Given the description of an element on the screen output the (x, y) to click on. 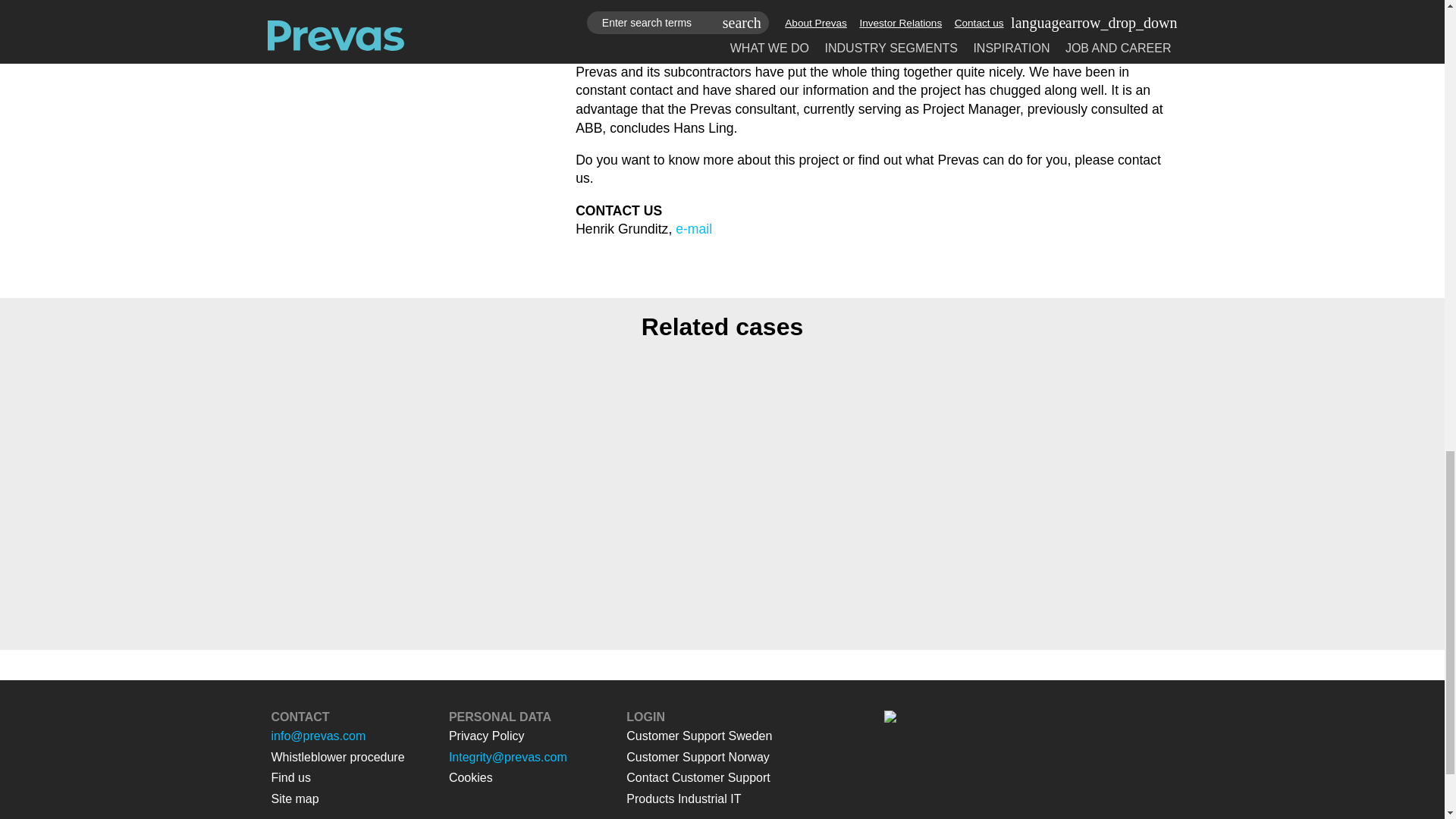
Customer Support Sweden (698, 735)
Privacy Policy (486, 735)
Find us (290, 777)
Contact Customer Support (698, 777)
e-mail (693, 228)
Whistleblower procedure (337, 757)
Cookies (470, 777)
Customer Support Norway (698, 757)
Site map (294, 798)
Products Industrial IT (683, 798)
